Given the description of an element on the screen output the (x, y) to click on. 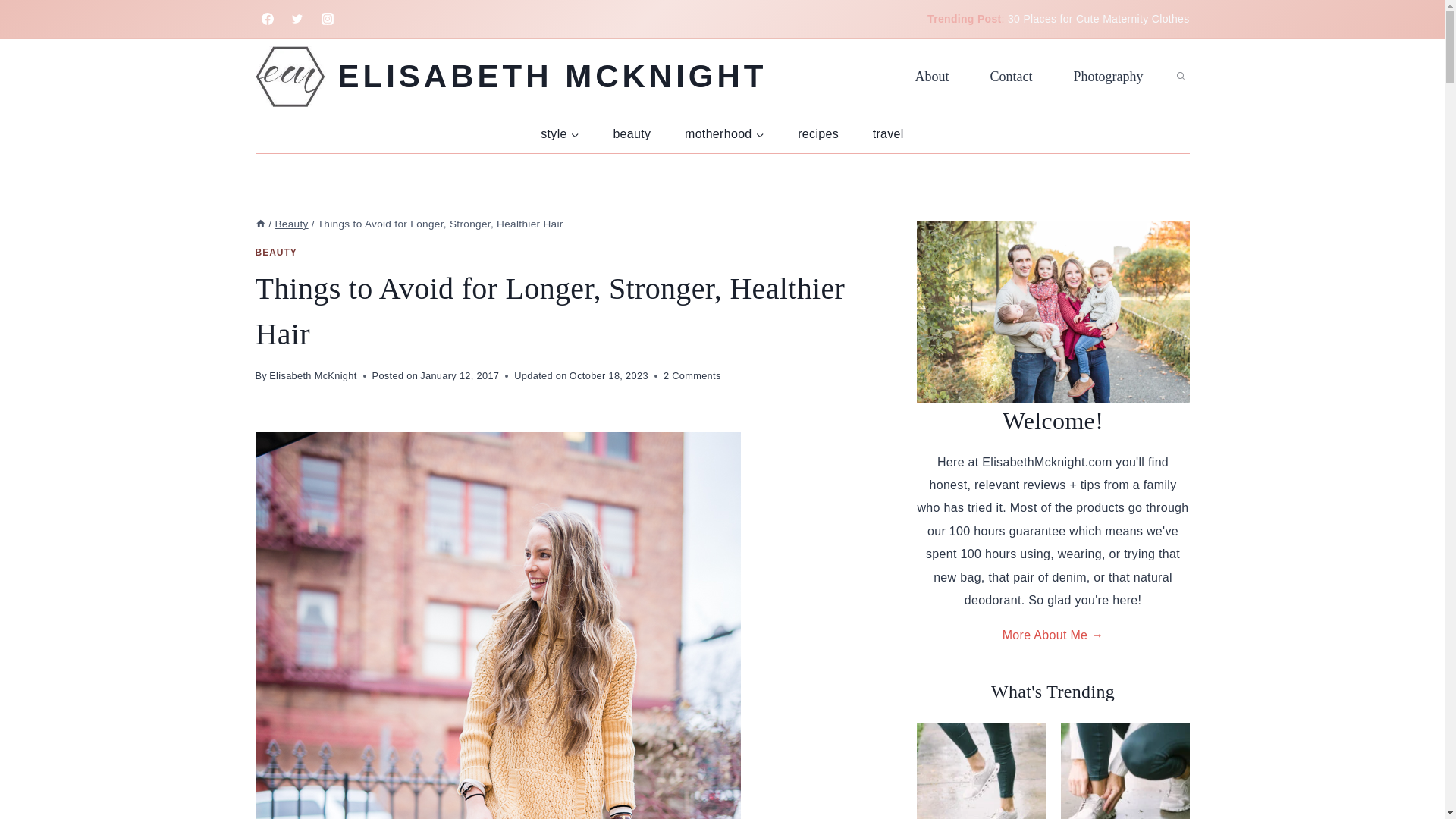
motherhood (724, 134)
Contact (1010, 76)
recipes (818, 134)
30 Places for Cute Maternity Clothes (1098, 19)
Elisabeth McKnight (312, 375)
ELISABETH MCKNIGHT (510, 75)
2 Comments (691, 375)
beauty (631, 134)
2 Comments (691, 375)
travel (888, 134)
